Given the description of an element on the screen output the (x, y) to click on. 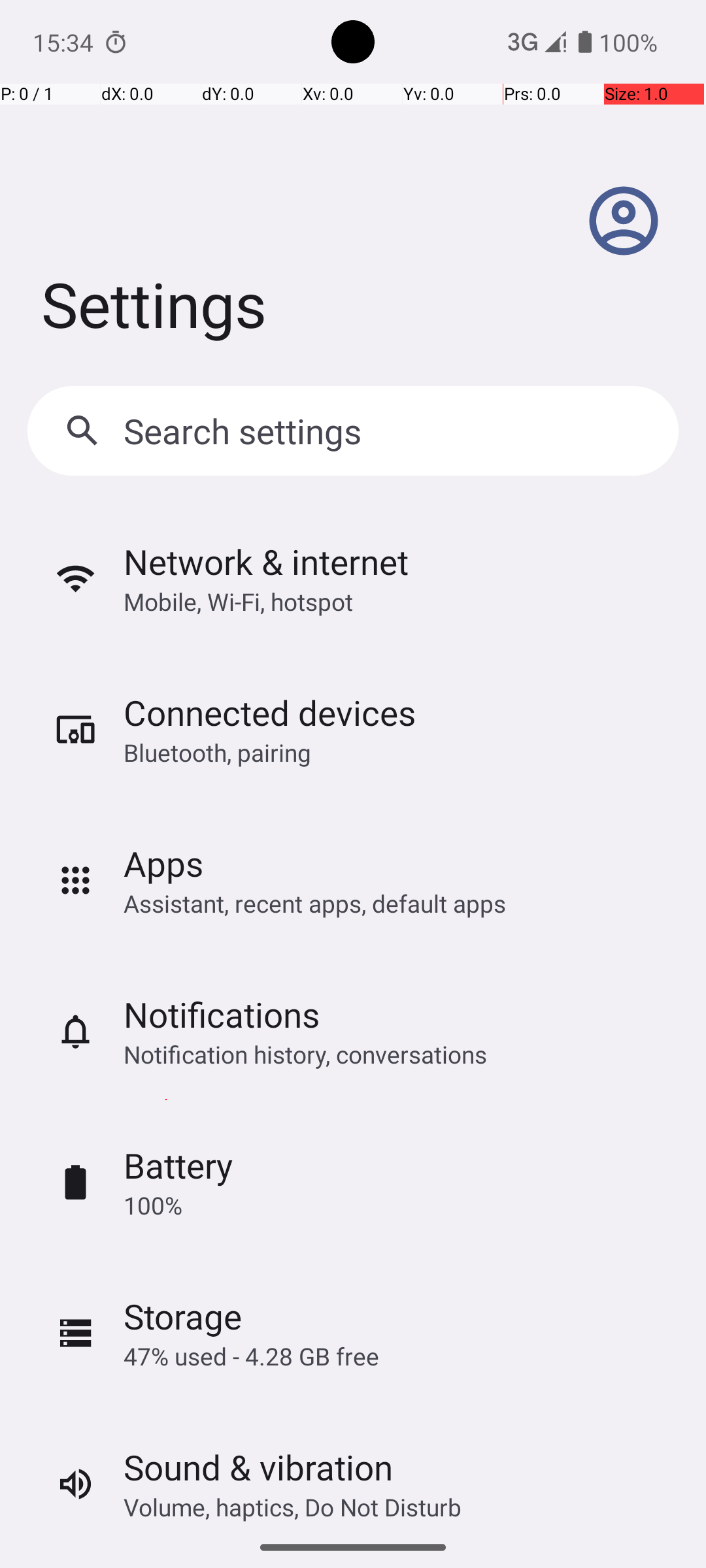
47% used - 4.28 GB free Element type: android.widget.TextView (251, 1355)
